Given the description of an element on the screen output the (x, y) to click on. 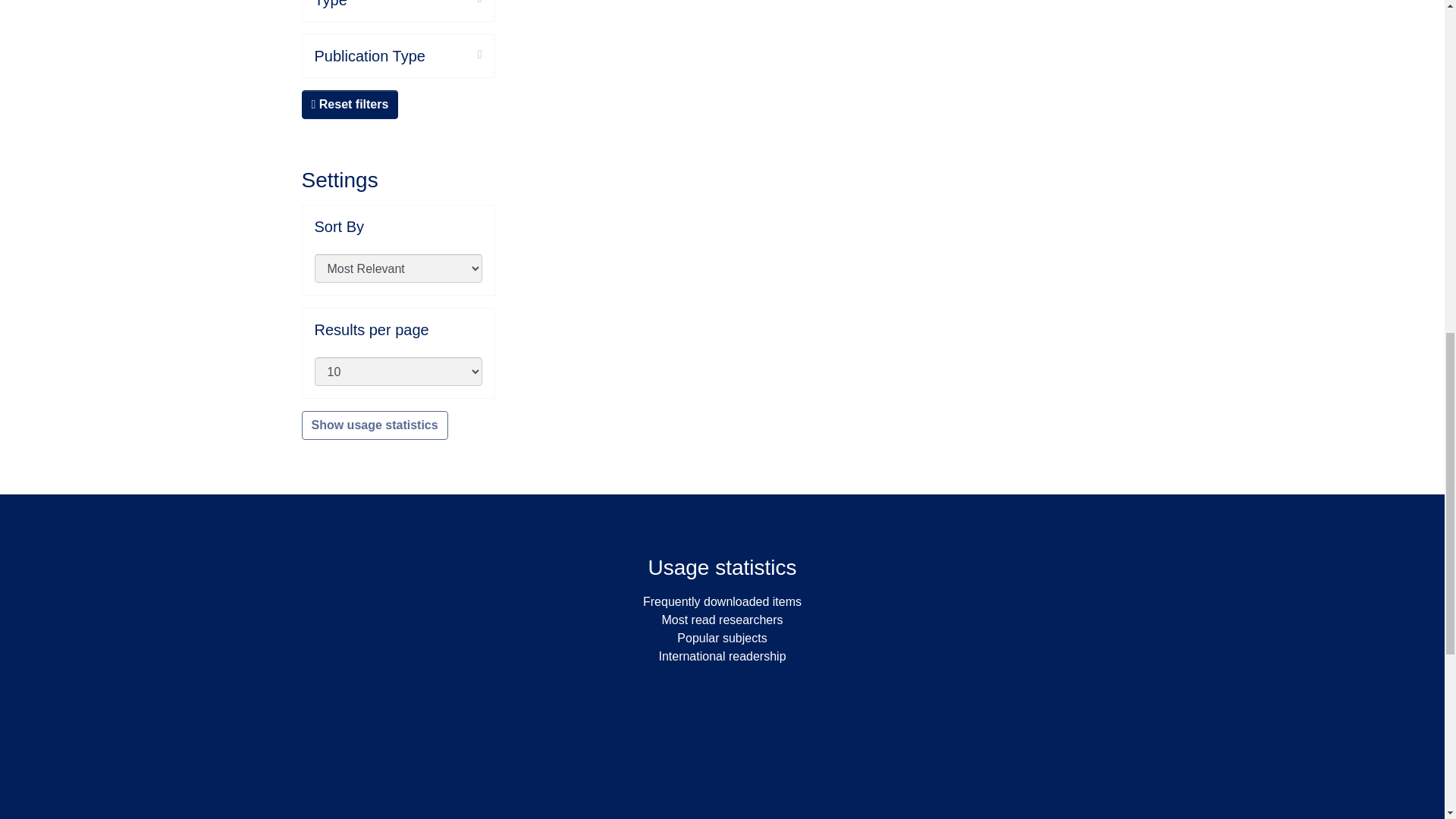
Most read researchers (722, 619)
Expand filter (453, 54)
Frequently downloaded items (722, 601)
Reset filters (349, 104)
Type (397, 4)
Publication Type (397, 55)
Popular subjects (722, 637)
Expand filter (414, 3)
International readership (722, 656)
